Given the description of an element on the screen output the (x, y) to click on. 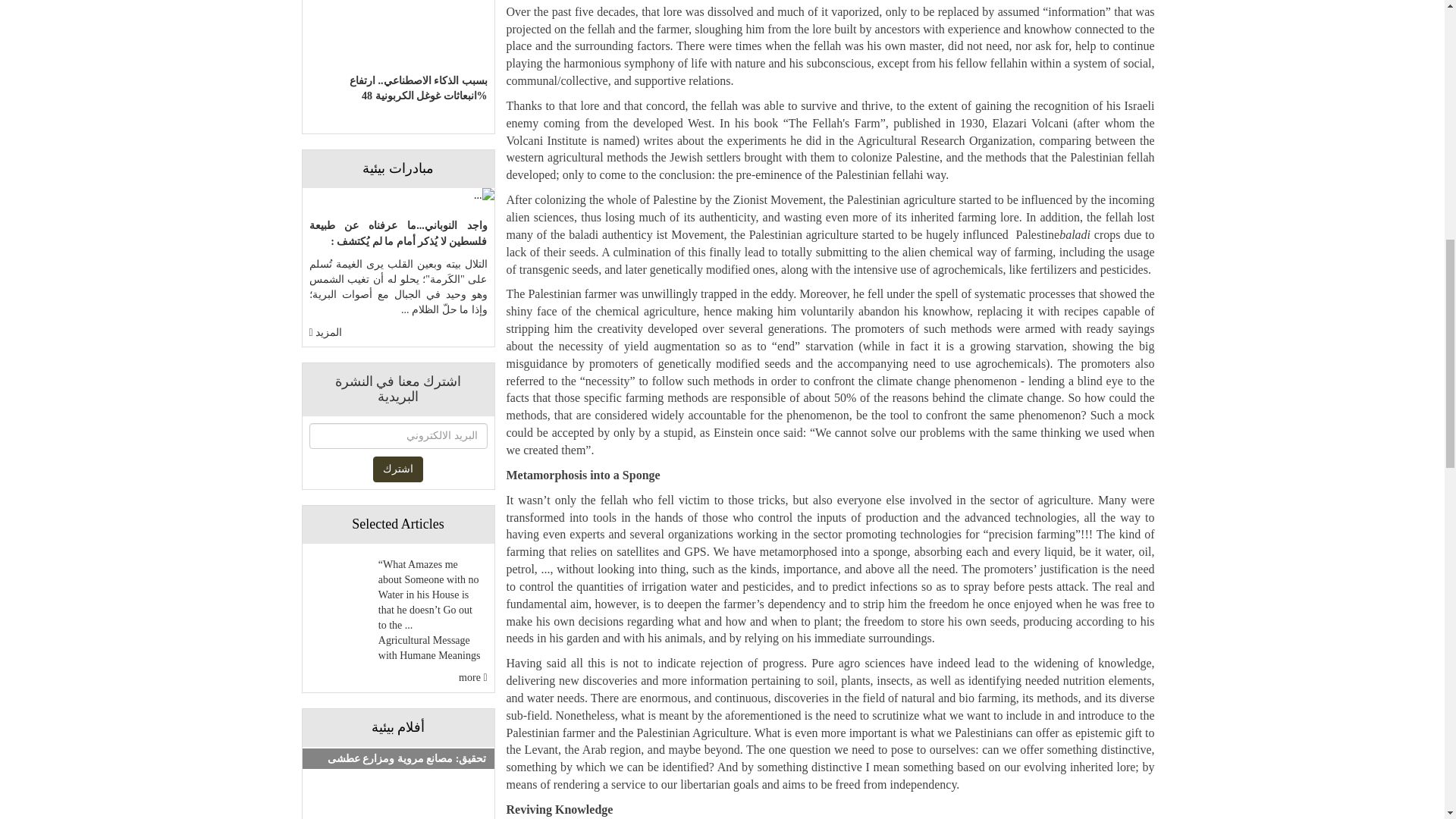
YouTube video player (397, 794)
